Given the description of an element on the screen output the (x, y) to click on. 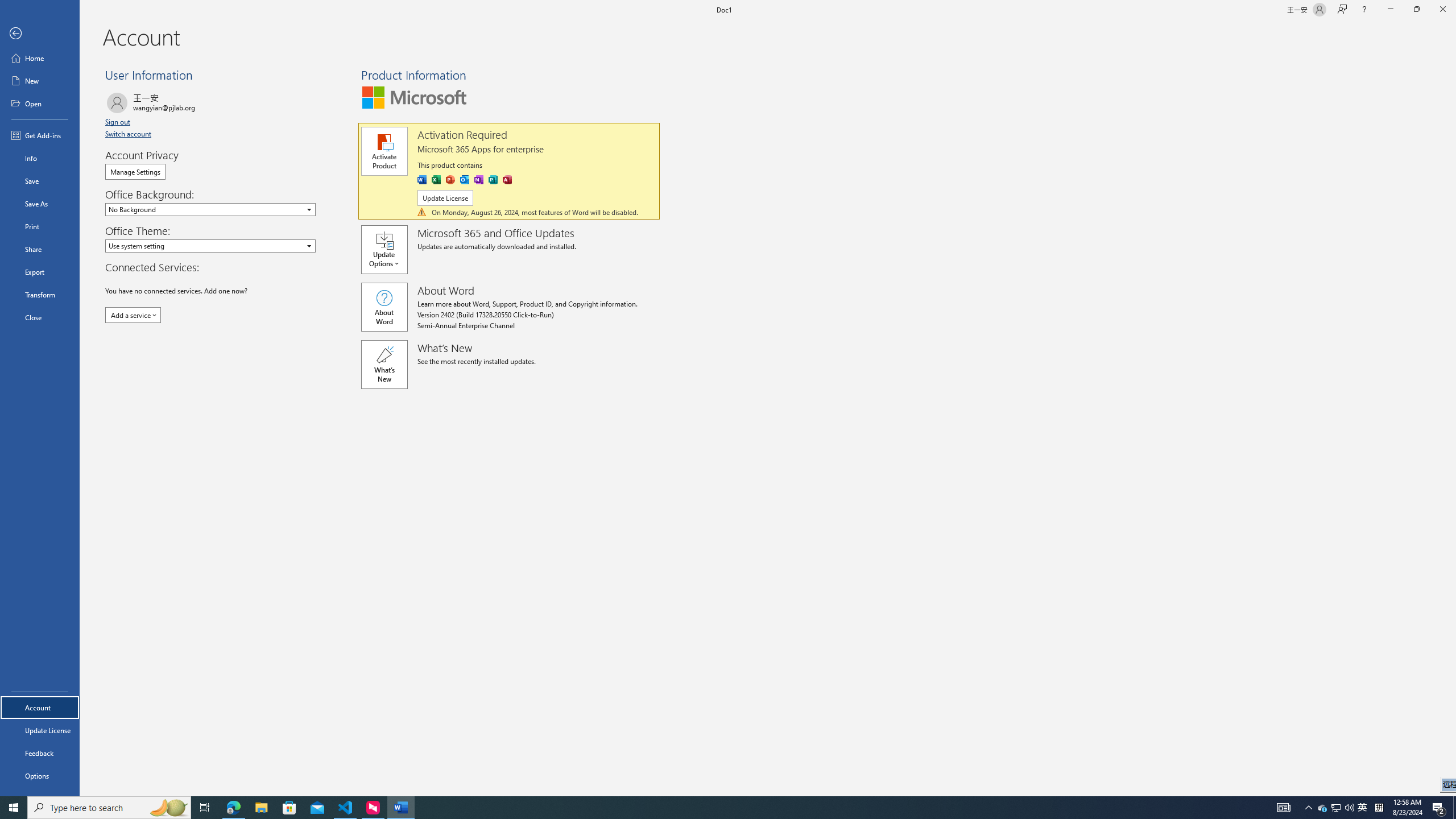
PowerPoint (449, 179)
Export (40, 271)
Activate Product (384, 151)
Access (507, 179)
New (40, 80)
Publisher (493, 179)
Update License (445, 197)
Back (40, 33)
Transform (40, 294)
Get Add-ins (40, 134)
Add a service (132, 314)
Switch account (128, 133)
